Given the description of an element on the screen output the (x, y) to click on. 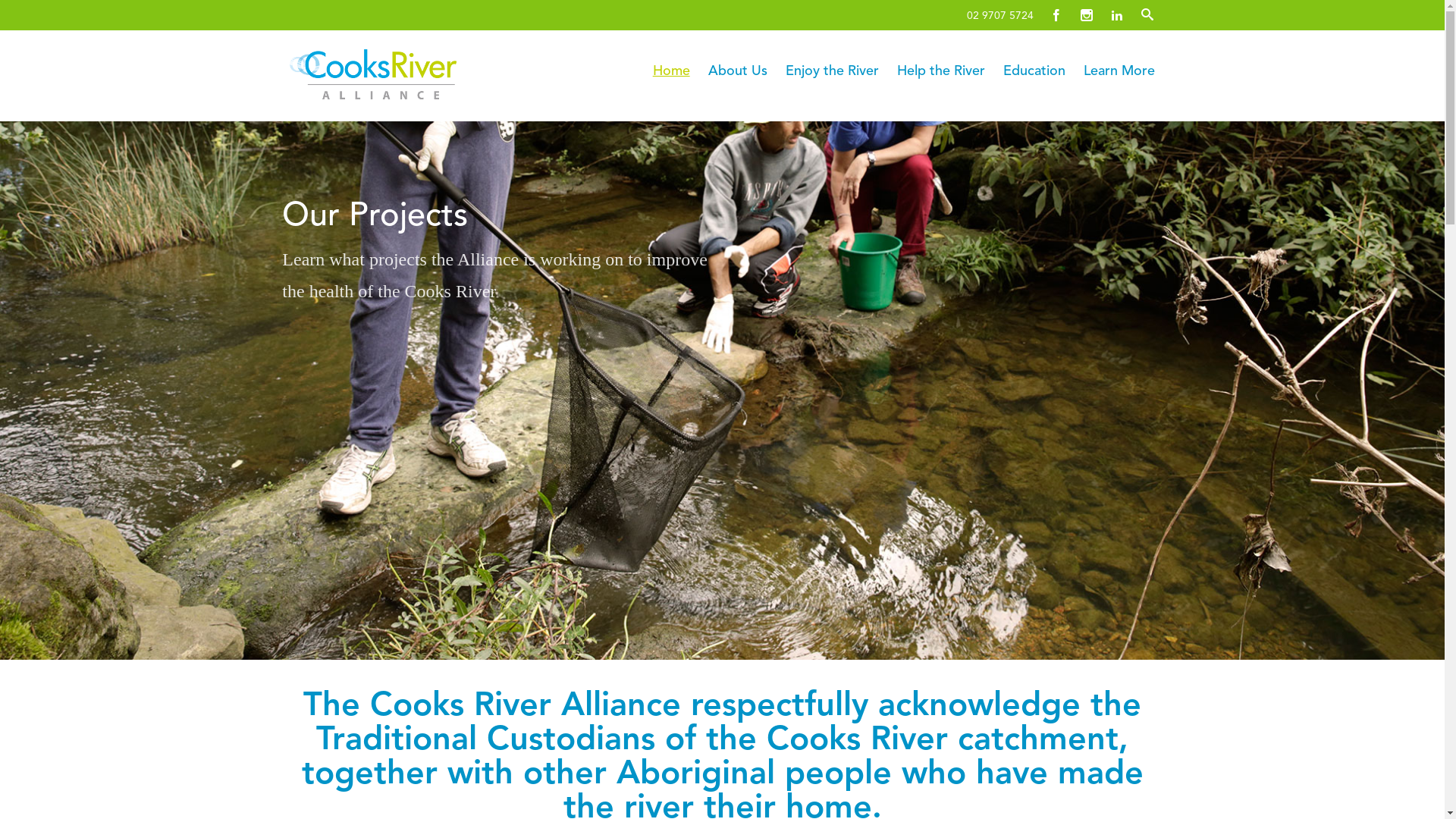
Search Element type: text (20, 10)
Facebook Element type: hover (1056, 15)
Enjoy the River Element type: text (832, 70)
Learn More Element type: text (1119, 70)
Help the River Element type: text (940, 70)
READ MORE Element type: text (328, 340)
LinkedIn Element type: hover (1116, 15)
Home Element type: text (671, 70)
About Us Element type: text (737, 70)
Education Element type: text (1034, 70)
Instagram Element type: hover (1086, 15)
Cooks River Alliance Element type: hover (413, 73)
02 9707 5724 Element type: text (1003, 12)
